Given the description of an element on the screen output the (x, y) to click on. 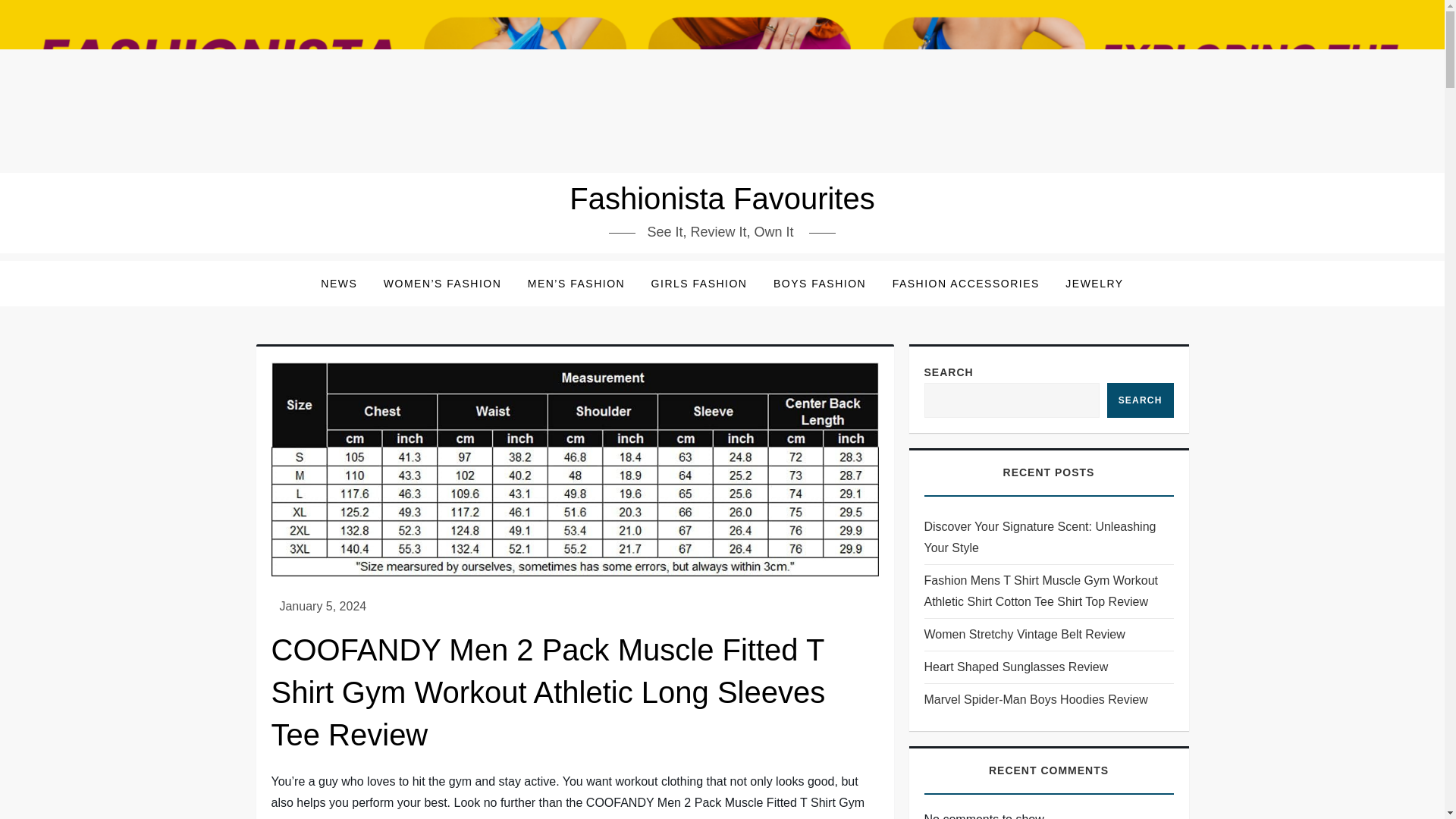
January 5, 2024 (322, 605)
FASHION ACCESSORIES (965, 283)
GIRLS FASHION (699, 283)
JEWELRY (1094, 283)
BOYS FASHION (819, 283)
NEWS (338, 283)
Fashionista Favourites (722, 198)
